Given the description of an element on the screen output the (x, y) to click on. 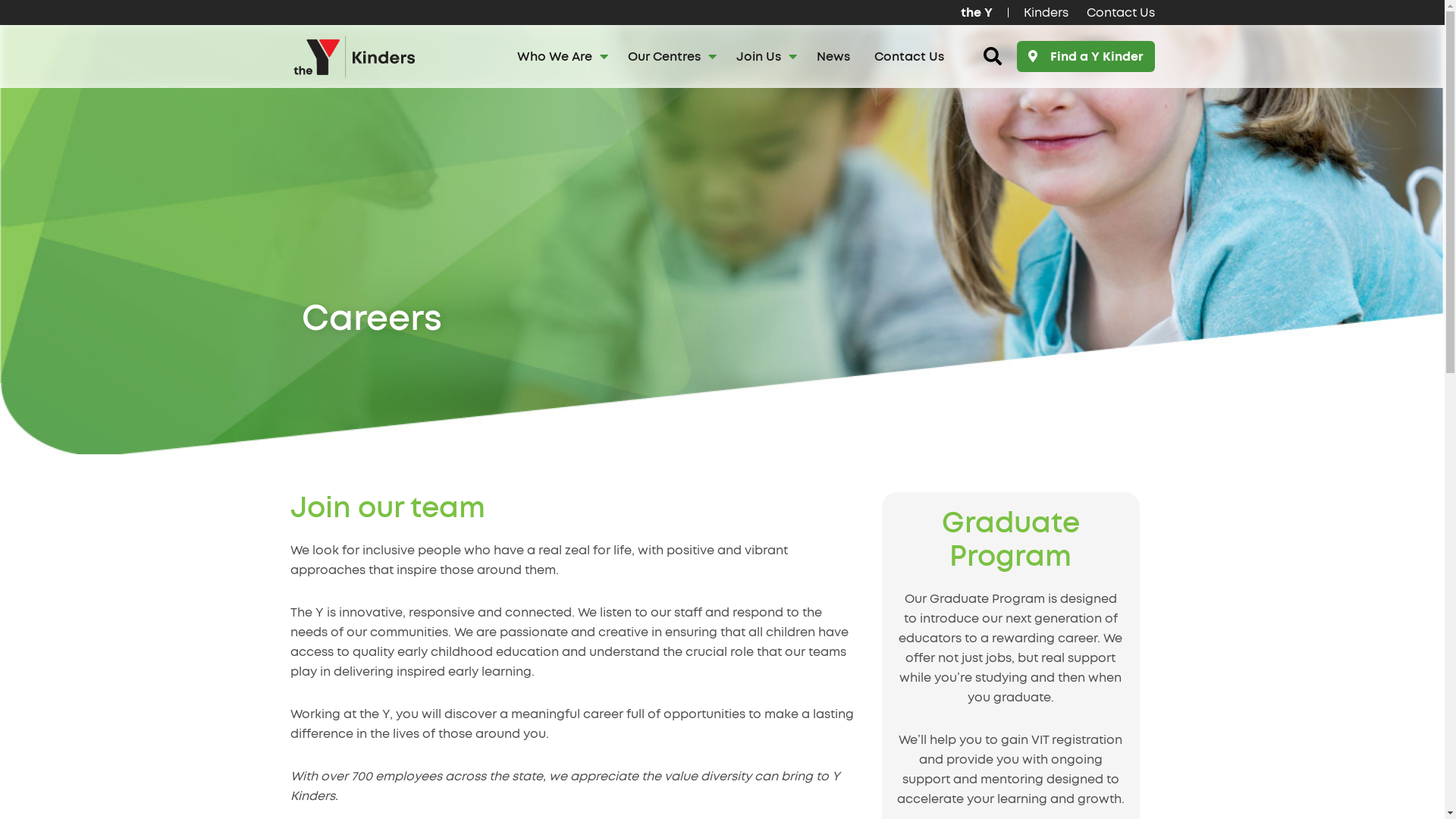
Kinders Element type: text (1046, 12)
Search Element type: text (38, 18)
Who We Are Element type: text (560, 56)
Join Us Element type: text (764, 56)
Our Centres Element type: text (669, 56)
News Element type: text (833, 56)
Find a Y Kinder Element type: text (1085, 56)
Contact Us Element type: text (1116, 12)
Contact Us Element type: text (909, 56)
